Given the description of an element on the screen output the (x, y) to click on. 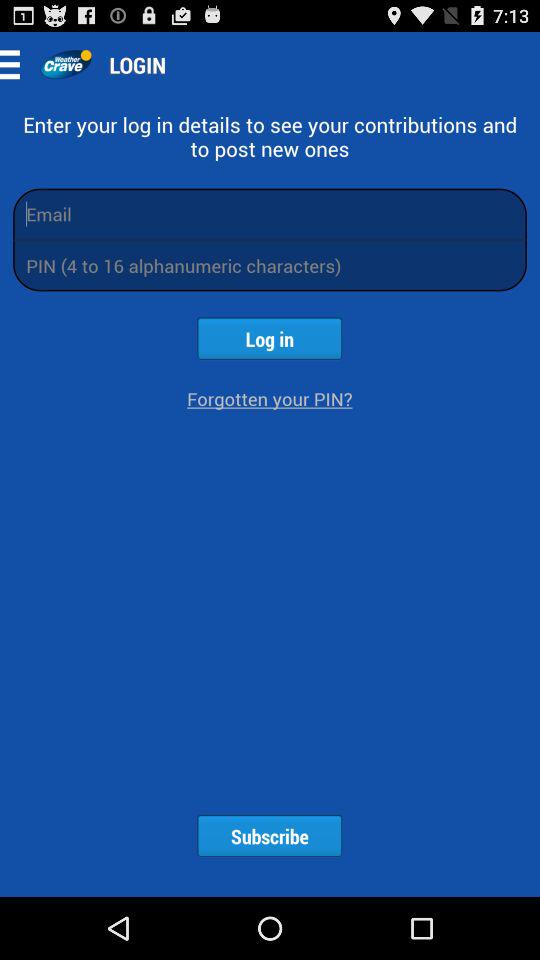
tap the subscribe app (269, 835)
